Given the description of an element on the screen output the (x, y) to click on. 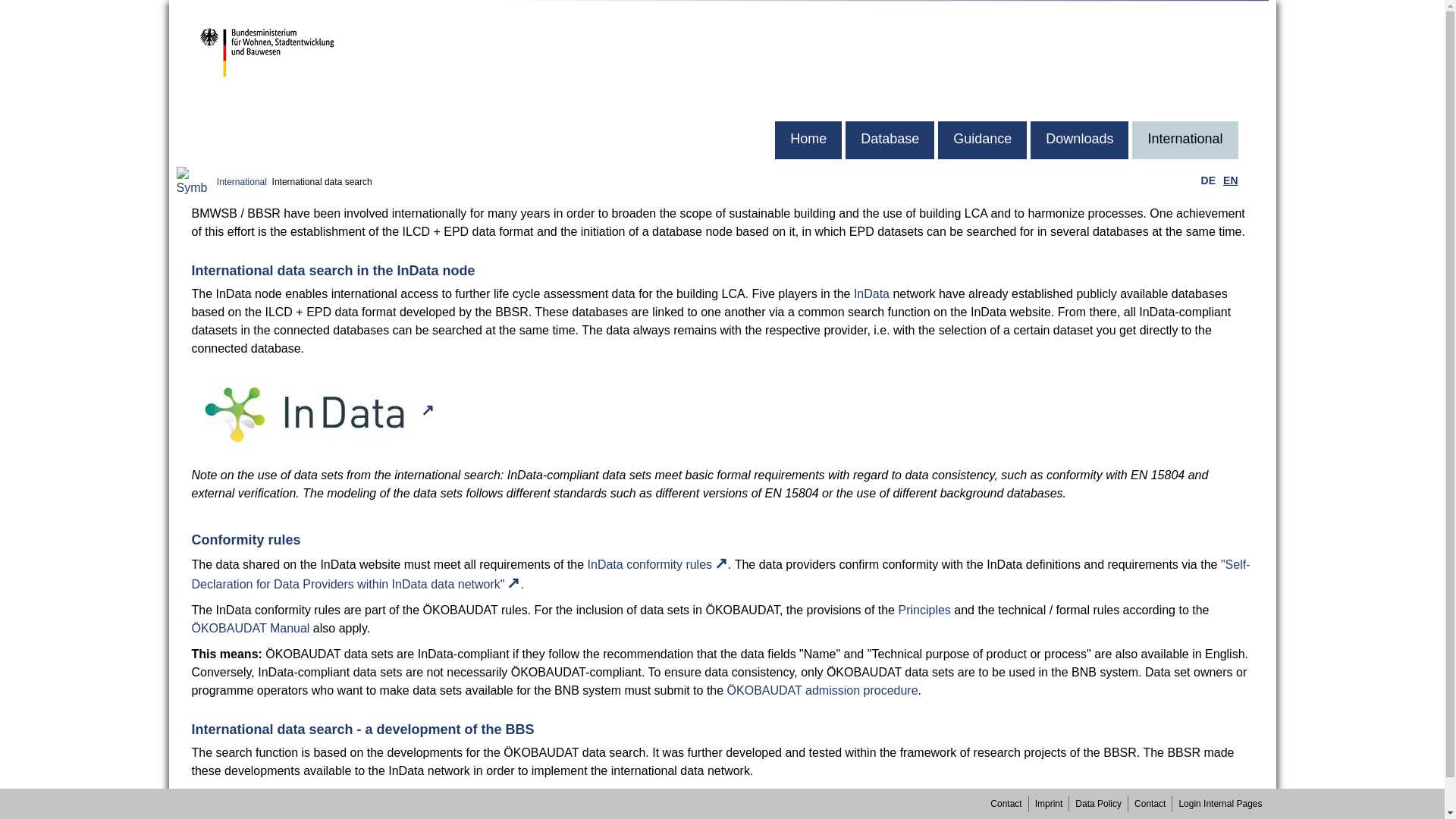
DE (1208, 180)
Imprint (1048, 803)
English Version (1230, 180)
Database (889, 139)
Deutsche Sprachversion (1208, 180)
Downloads (1079, 139)
Contact (1006, 803)
International (1184, 139)
EN (1230, 180)
Principles (924, 609)
Home (807, 139)
Guidance (981, 139)
InData conformity rules (658, 563)
International (241, 181)
